Given the description of an element on the screen output the (x, y) to click on. 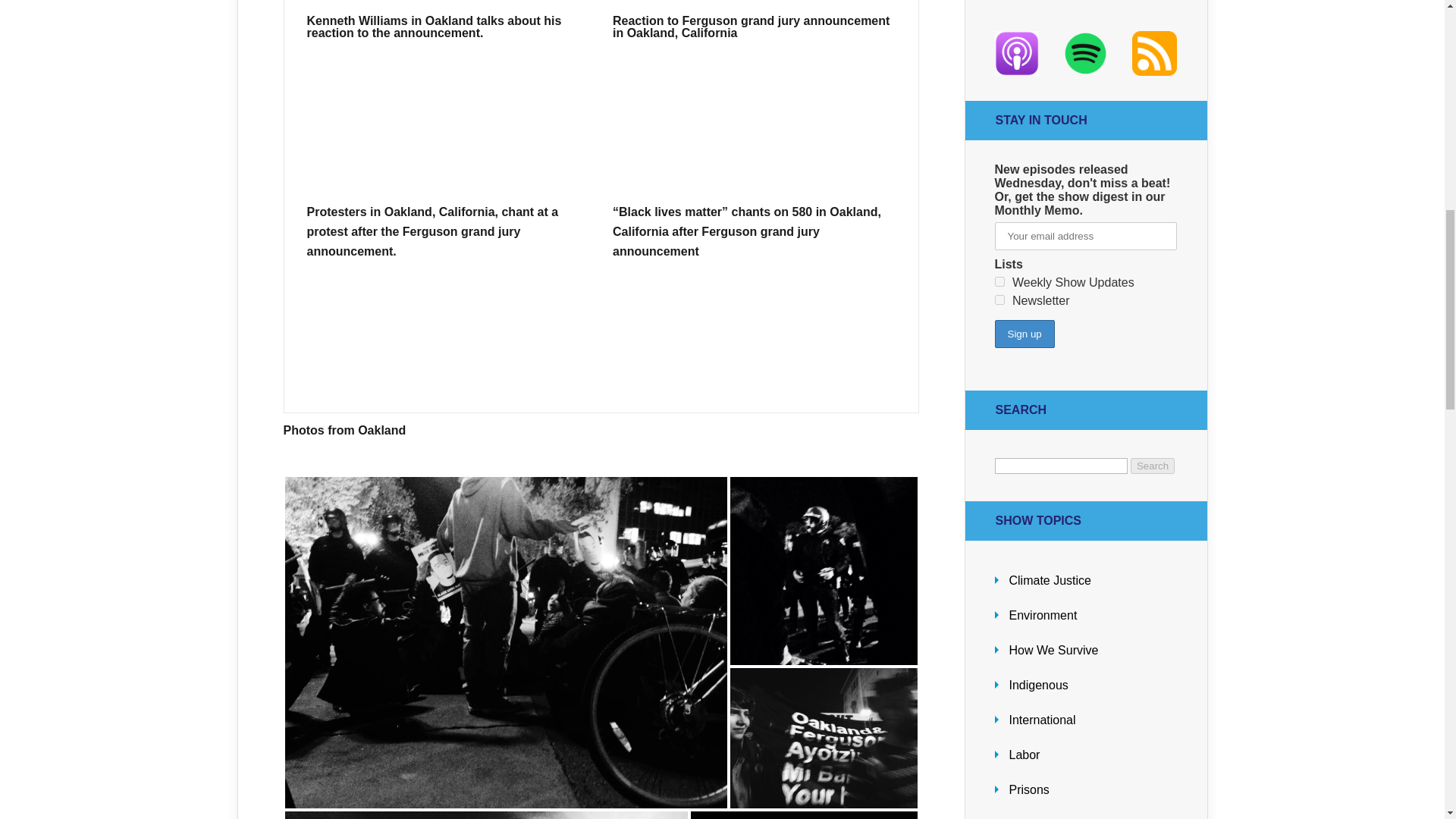
2cf6af6f9d (999, 281)
63d931b2a5 (999, 299)
Sign up (1024, 334)
Search (1152, 465)
